Given the description of an element on the screen output the (x, y) to click on. 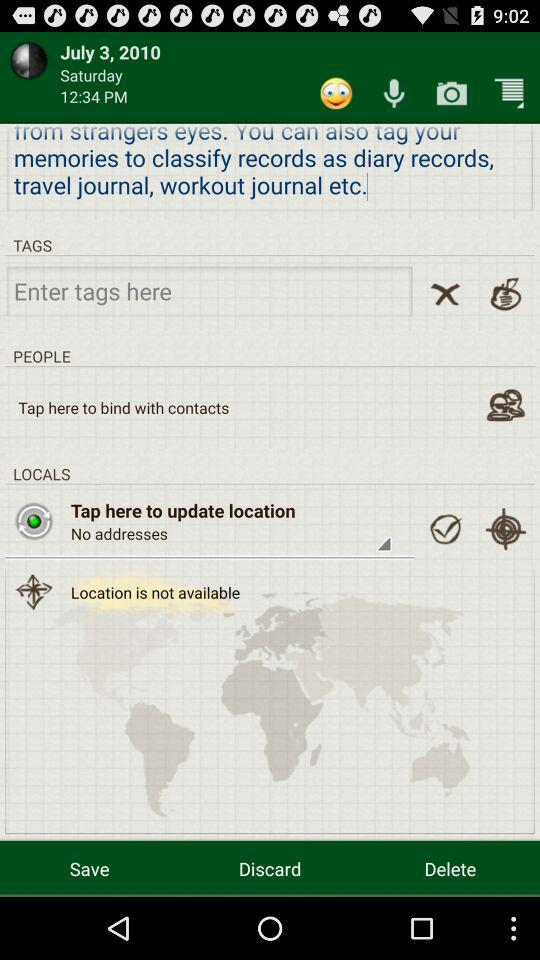
mark as done (445, 529)
